Given the description of an element on the screen output the (x, y) to click on. 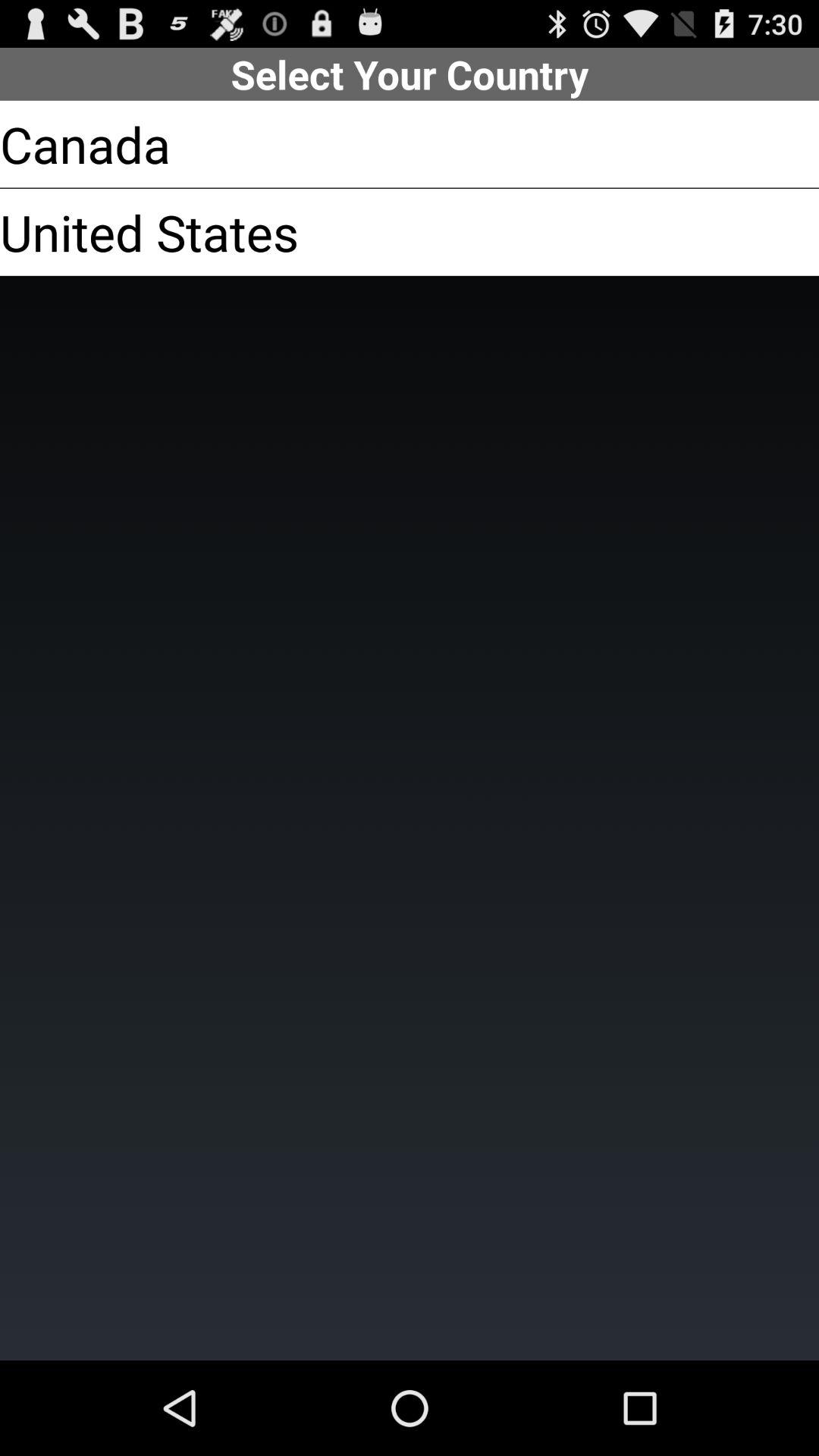
click the app below the select your country (85, 143)
